Given the description of an element on the screen output the (x, y) to click on. 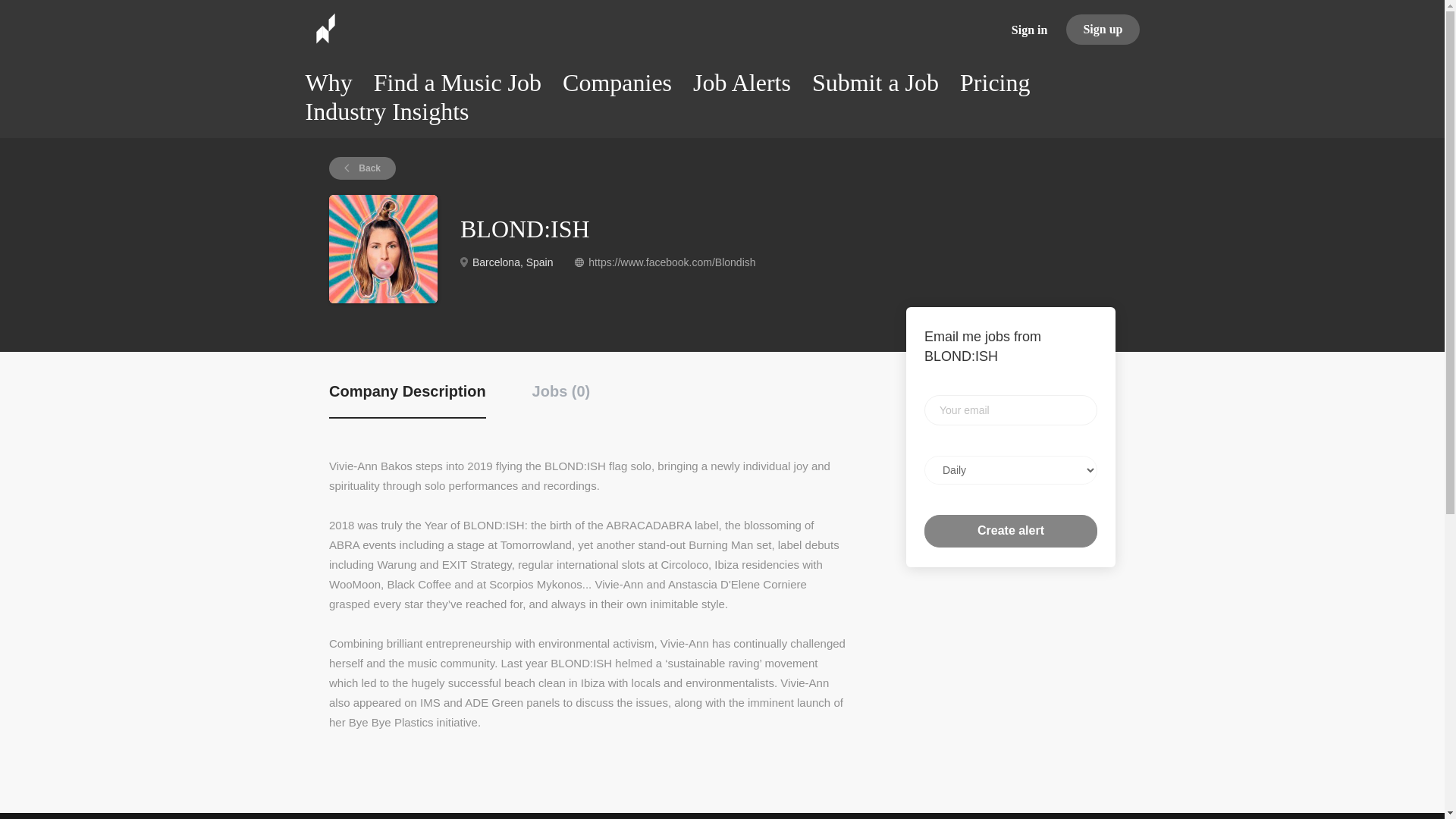
Create alert (1010, 531)
Create alert (1010, 531)
Find a Music Job (457, 85)
Companies (616, 85)
Submit a Job (875, 85)
Company Description (407, 399)
Pricing (994, 85)
Industry Insights (386, 114)
Back (362, 168)
Why (328, 85)
